Given the description of an element on the screen output the (x, y) to click on. 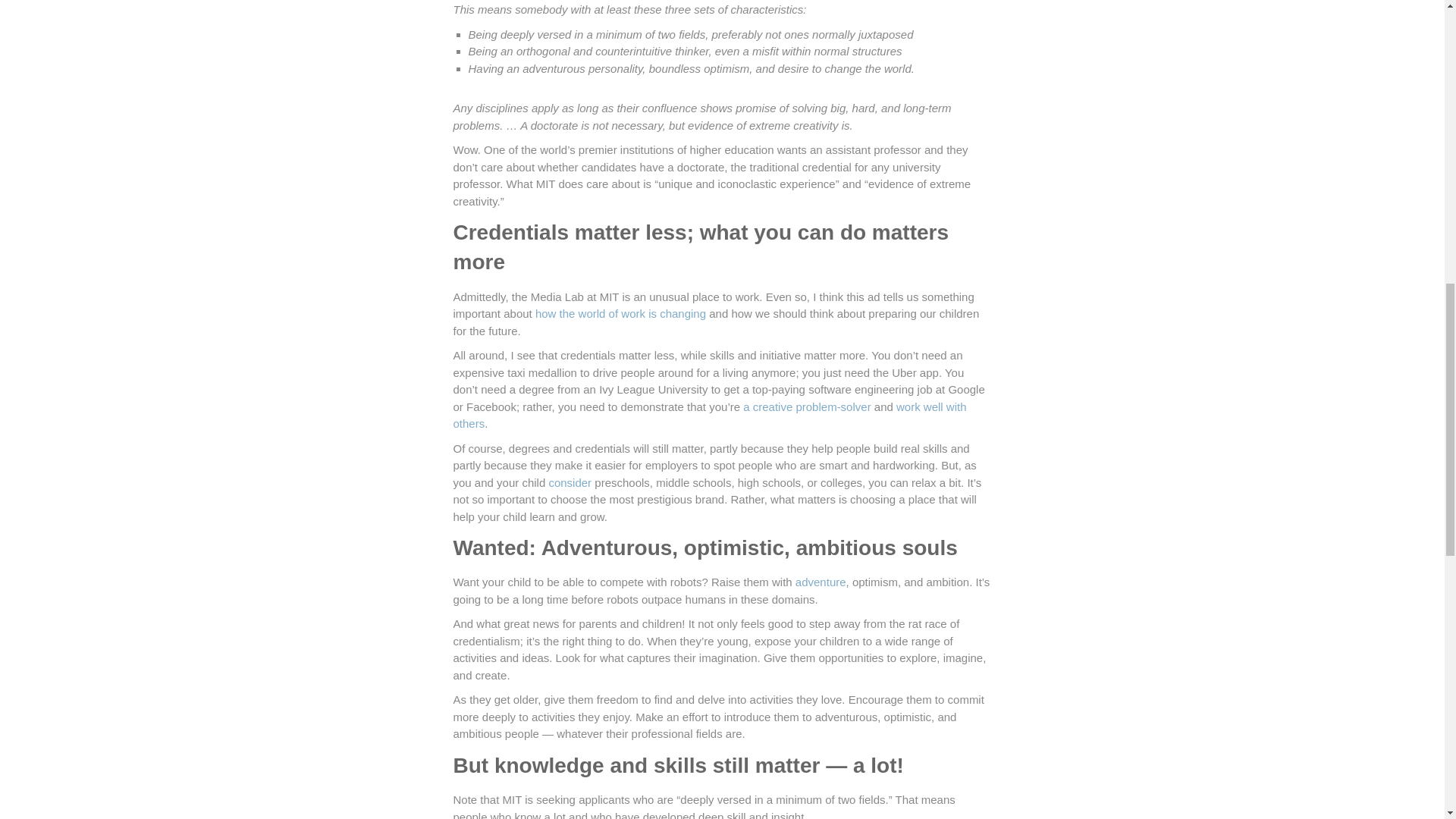
work well with others (709, 415)
adventure (819, 581)
how the world of work is changing (620, 313)
consider (569, 481)
a creative problem-solver  (808, 406)
